Given the description of an element on the screen output the (x, y) to click on. 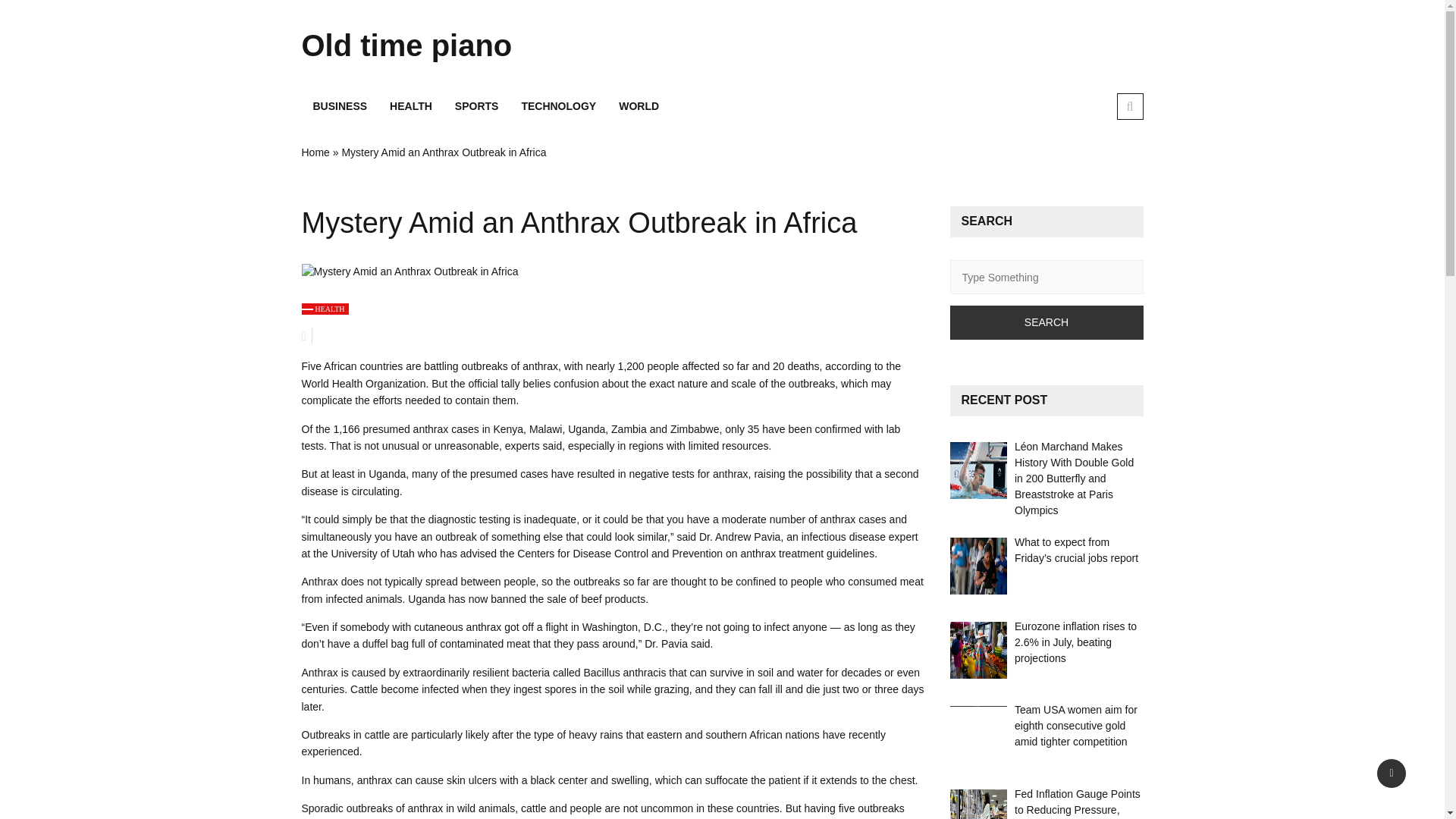
SPORTS (477, 106)
WORLD (638, 106)
BUSINESS (339, 106)
TECHNOLOGY (558, 106)
HEALTH (325, 308)
HEALTH (411, 106)
Search (1045, 322)
Home (315, 152)
Search (1045, 322)
Old time piano (434, 44)
